Given the description of an element on the screen output the (x, y) to click on. 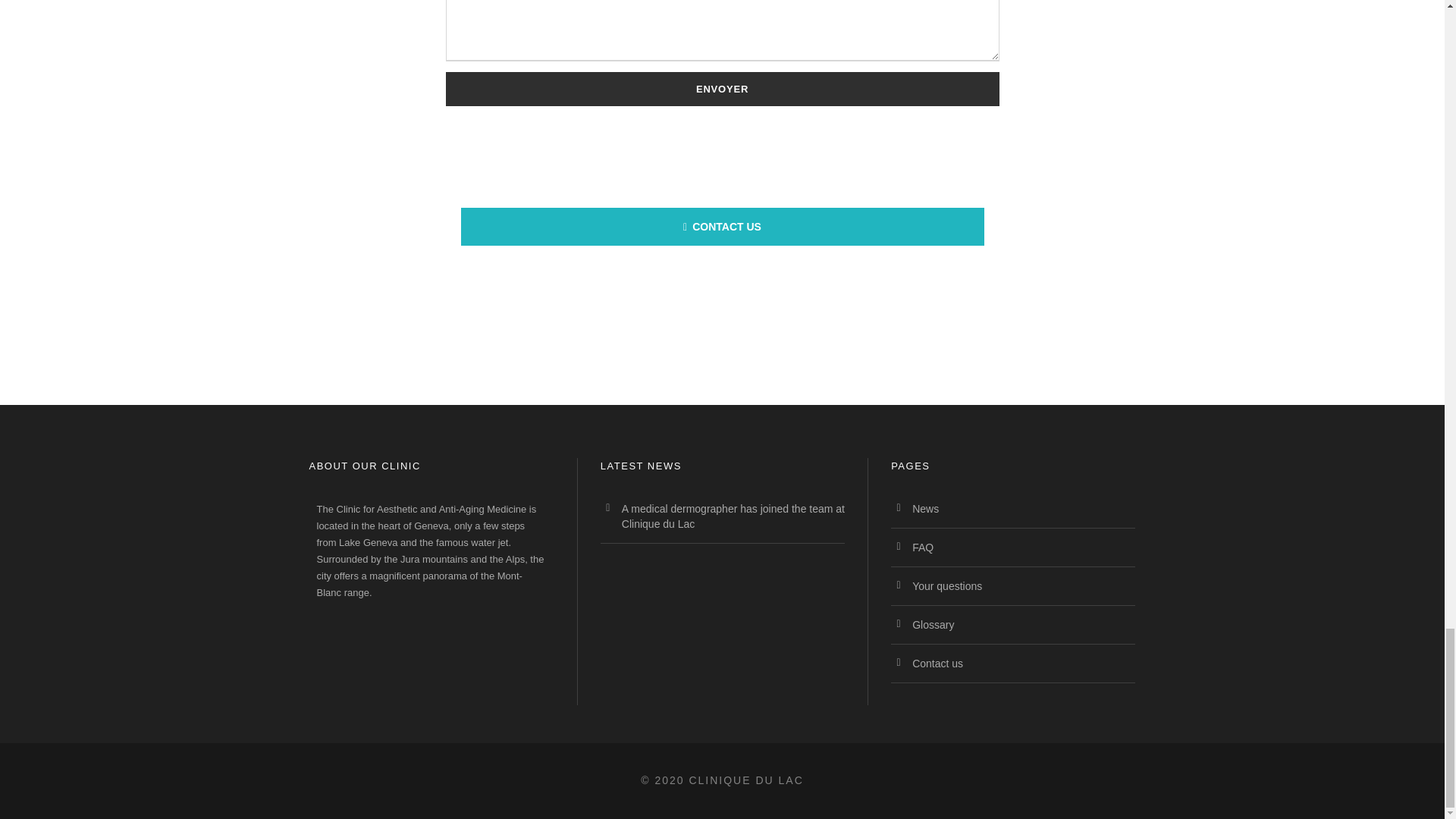
Envoyer (721, 89)
